Given the description of an element on the screen output the (x, y) to click on. 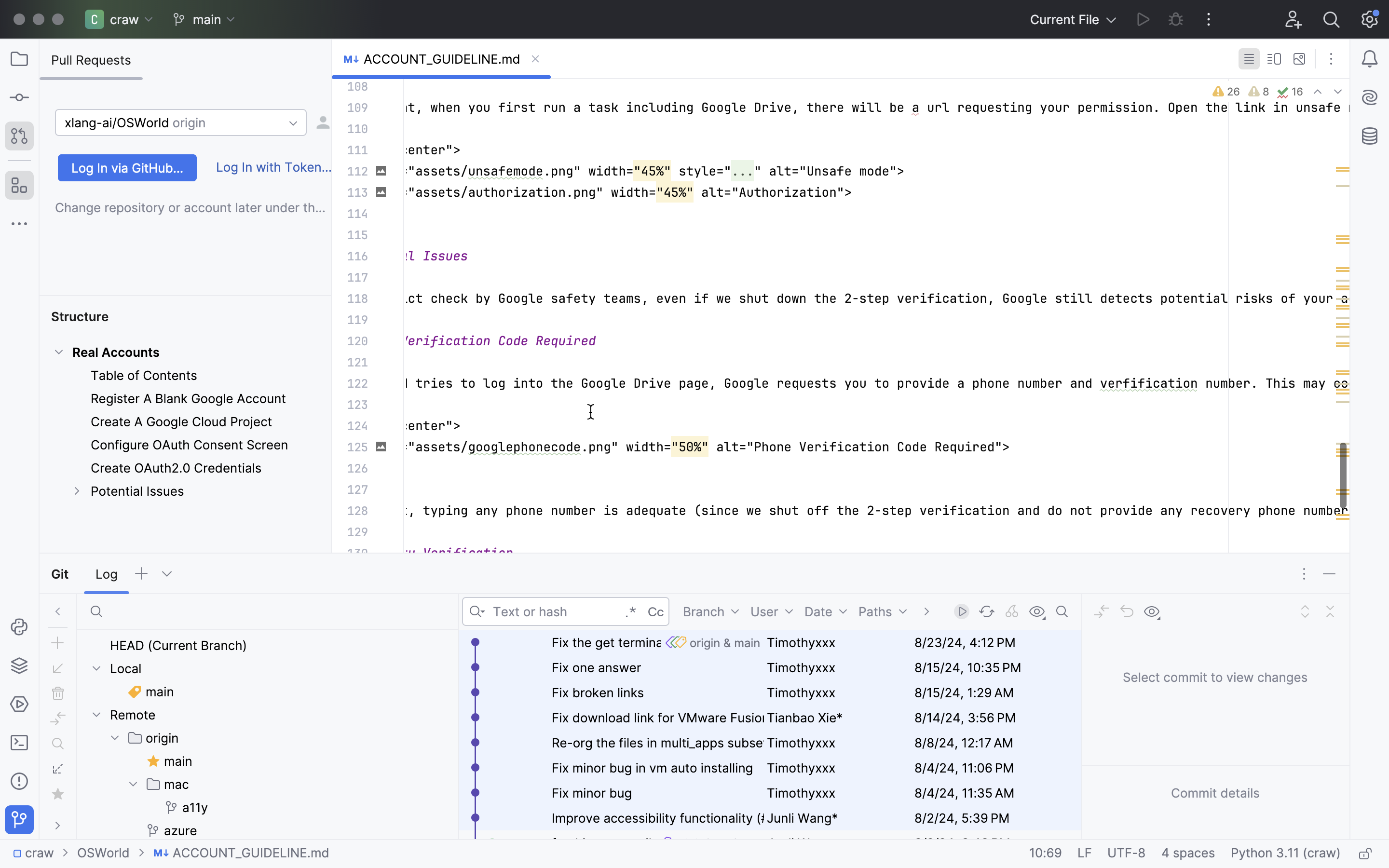
4 spaces Element type: AXStaticText (1188, 853)
craw – ACCOUNT_GUIDELINE.md Element type: AXStaticText (694, 12)
Log Element type: AXStaticText (106, 573)
Git Element type: AXStaticText (61, 573)
